Given the description of an element on the screen output the (x, y) to click on. 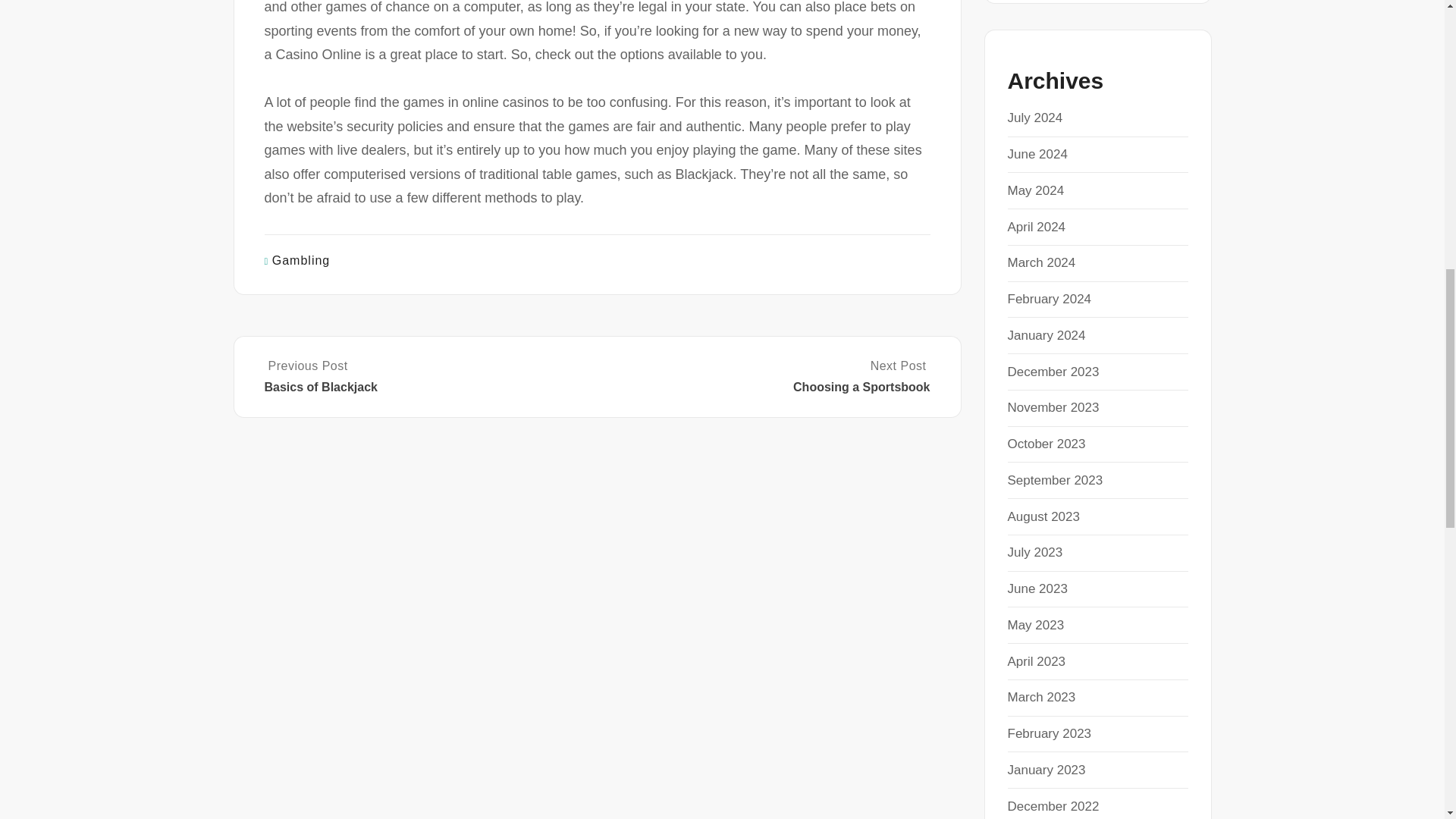
March 2023 (1041, 697)
April 2023 (1036, 661)
August 2023 (1042, 516)
December 2023 (1053, 371)
June 2023 (1037, 588)
March 2024 (1041, 262)
July 2023 (1034, 552)
Gambling (301, 259)
September 2023 (1054, 480)
November 2023 (1053, 407)
October 2023 (1045, 443)
May 2023 (1035, 625)
January 2024 (1045, 335)
February 2024 (1048, 298)
